Given the description of an element on the screen output the (x, y) to click on. 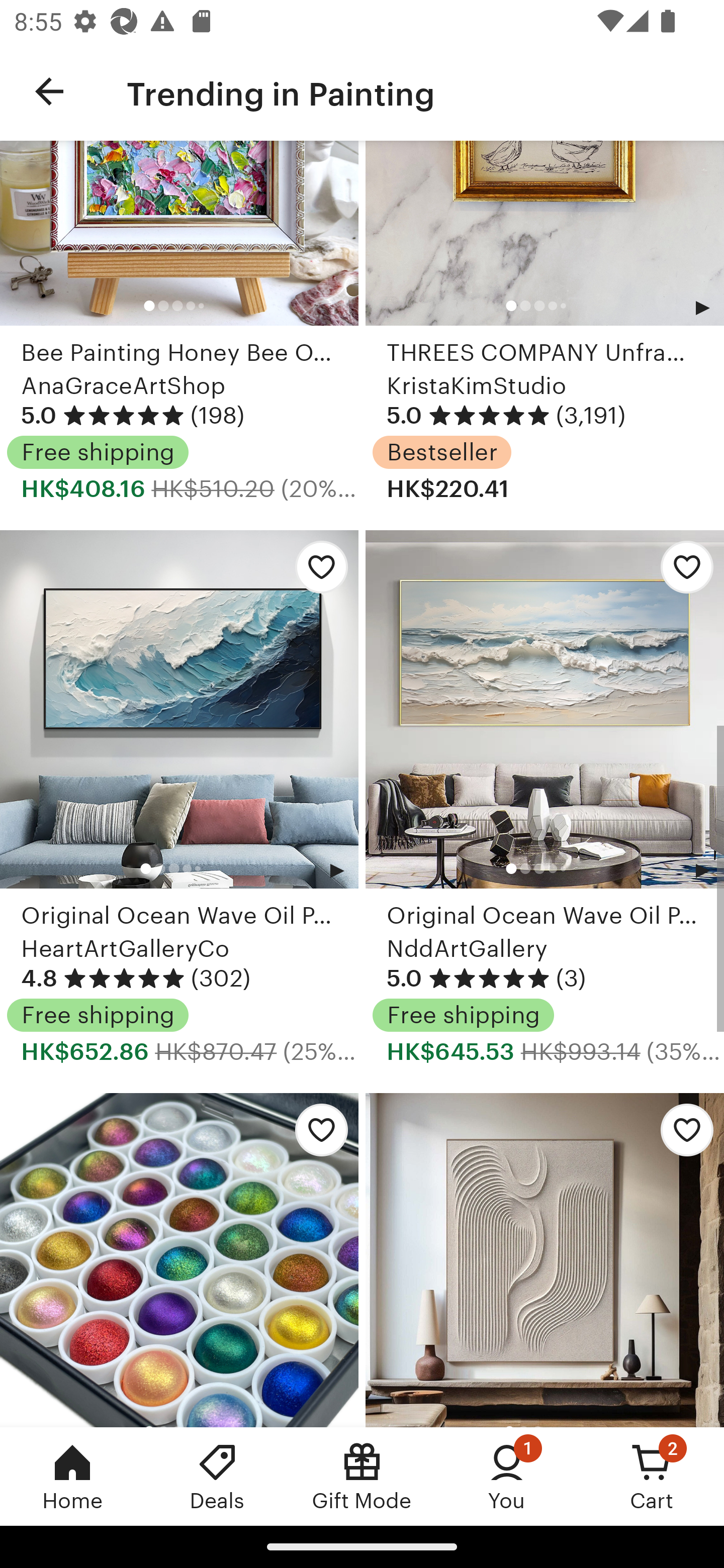
Navigate up (49, 91)
Deals (216, 1475)
Gift Mode (361, 1475)
You, 1 new notification You (506, 1475)
Cart, 2 new notifications Cart (651, 1475)
